Given the description of an element on the screen output the (x, y) to click on. 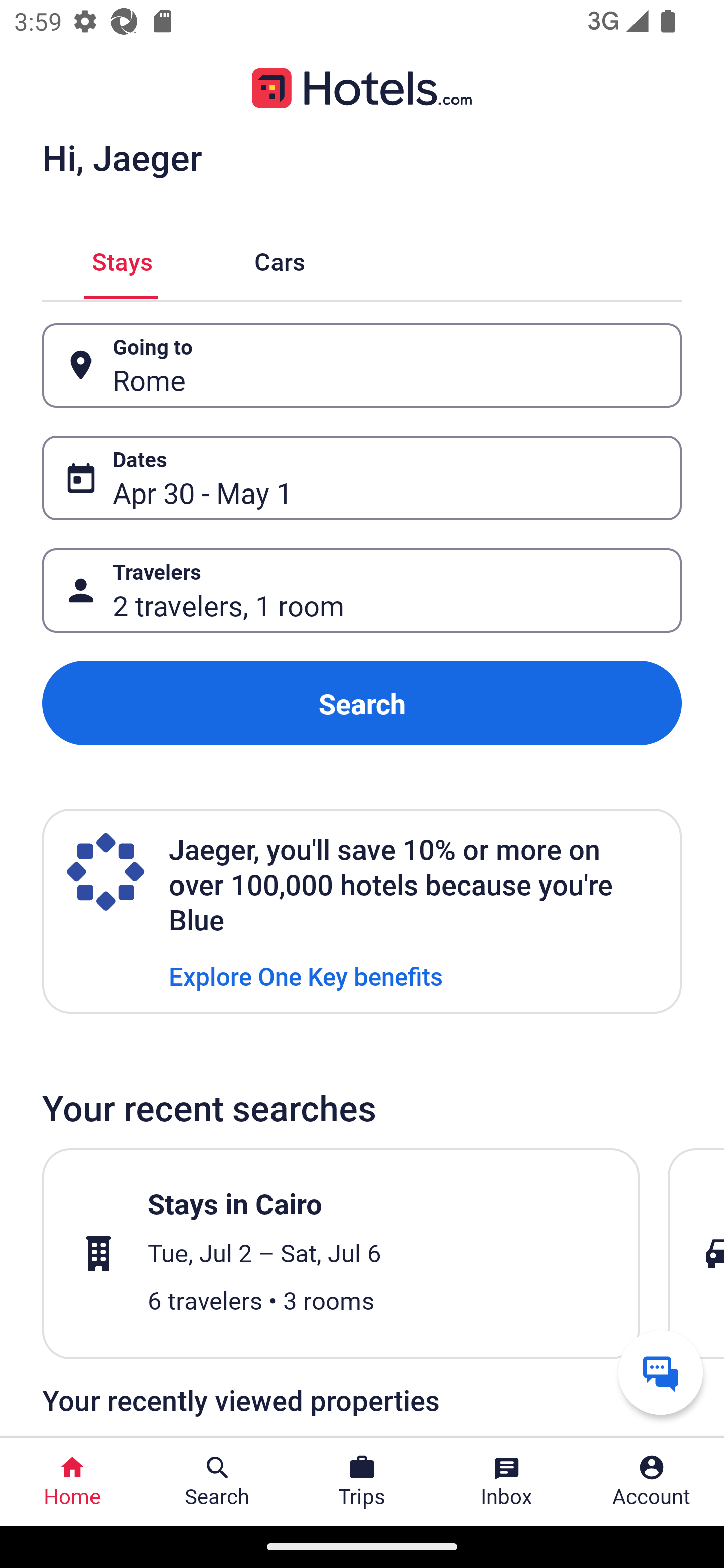
Hi, Jaeger (121, 156)
Cars (279, 259)
Going to Button Rome (361, 365)
Dates Button Apr 30 - May 1 (361, 477)
Travelers Button 2 travelers, 1 room (361, 590)
Search (361, 702)
Get help from a virtual agent (660, 1371)
Search Search Button (216, 1481)
Trips Trips Button (361, 1481)
Inbox Inbox Button (506, 1481)
Account Profile. Button (651, 1481)
